Given the description of an element on the screen output the (x, y) to click on. 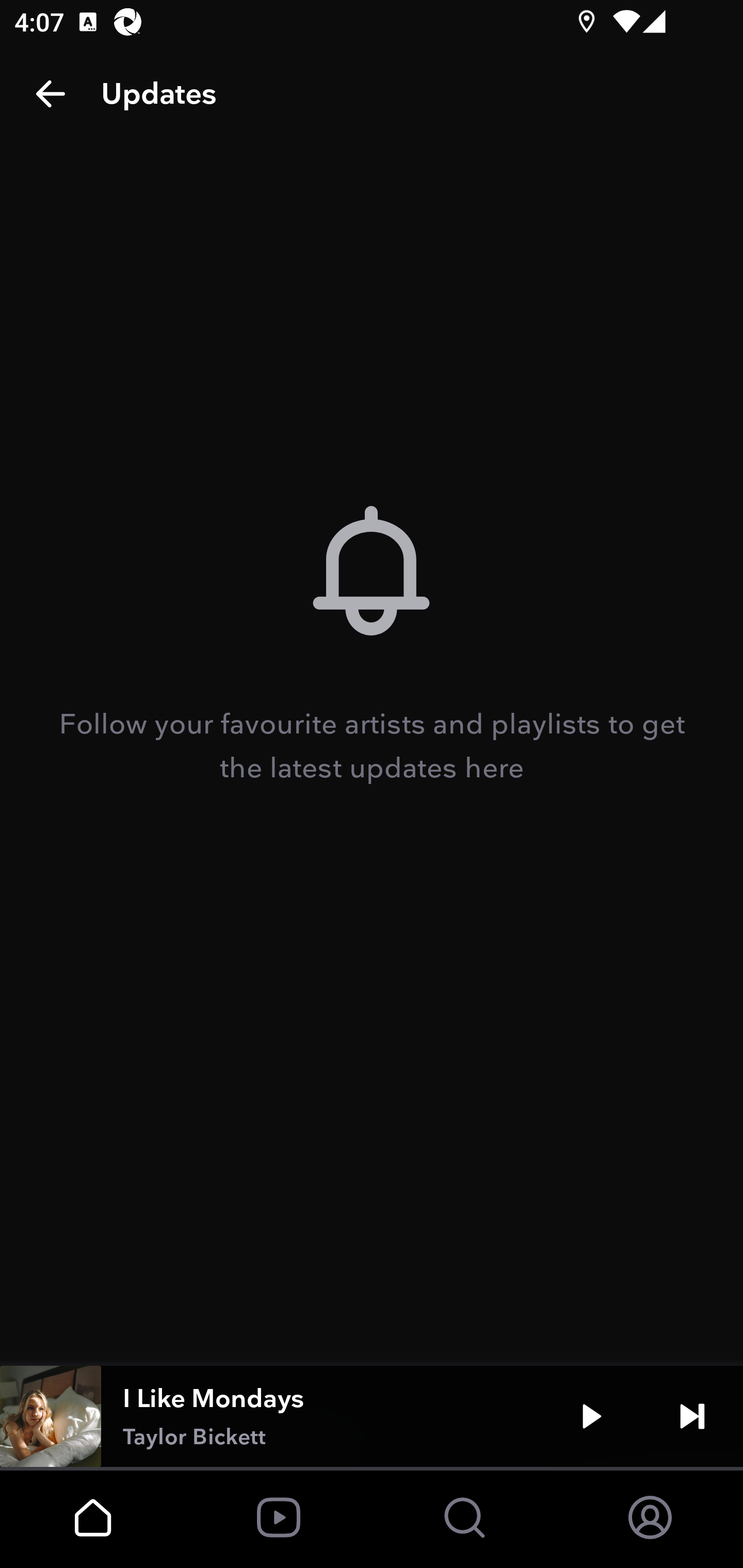
I Like Mondays Taylor Bickett Play (371, 1416)
Play (590, 1416)
